Given the description of an element on the screen output the (x, y) to click on. 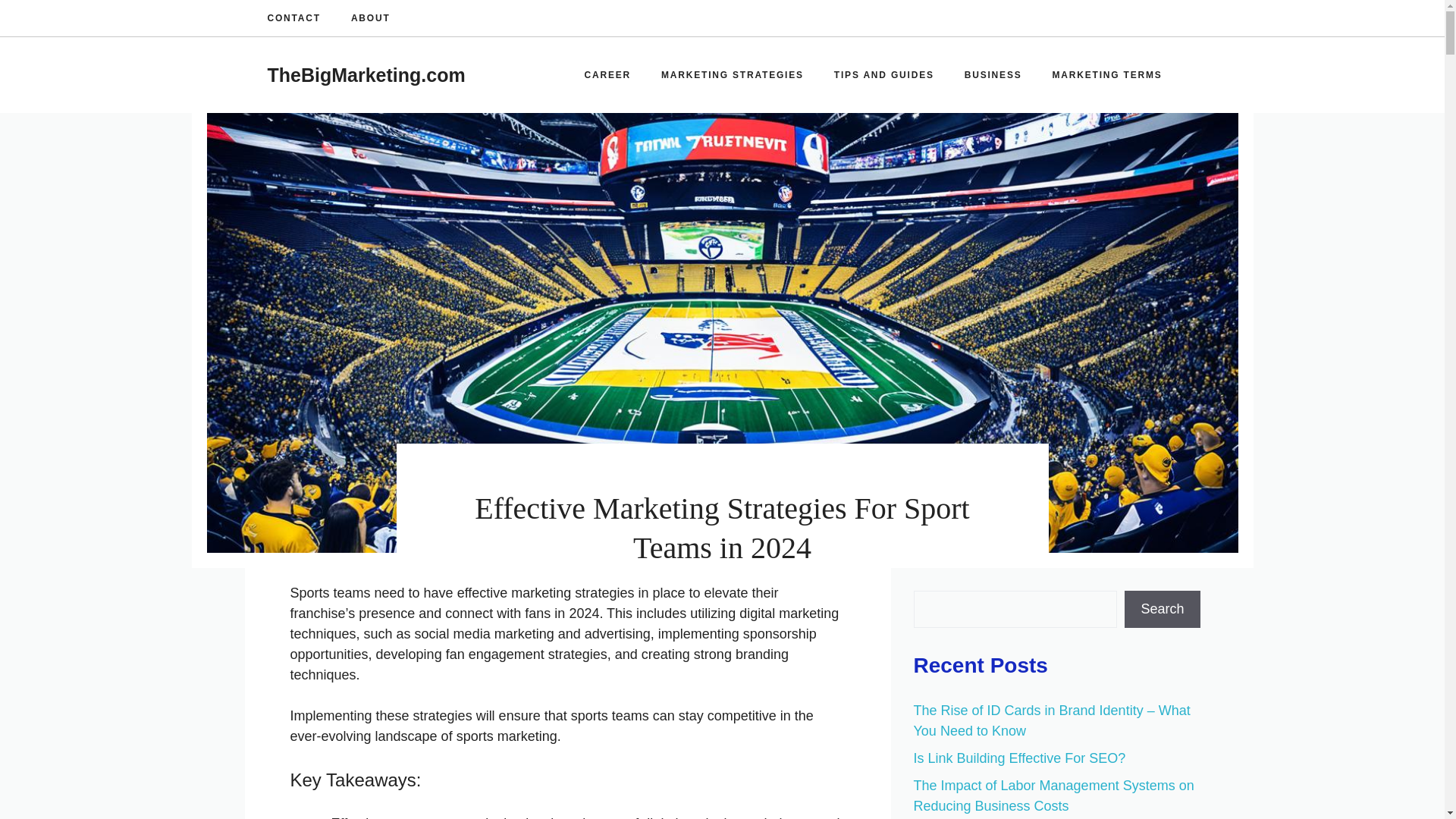
MARKETING TERMS (1106, 74)
BUSINESS (992, 74)
Search (1161, 609)
TIPS AND GUIDES (883, 74)
ABOUT (370, 18)
Is Link Building Effective For SEO? (1018, 758)
CONTACT (293, 18)
CAREER (607, 74)
MARKETING STRATEGIES (732, 74)
